Given the description of an element on the screen output the (x, y) to click on. 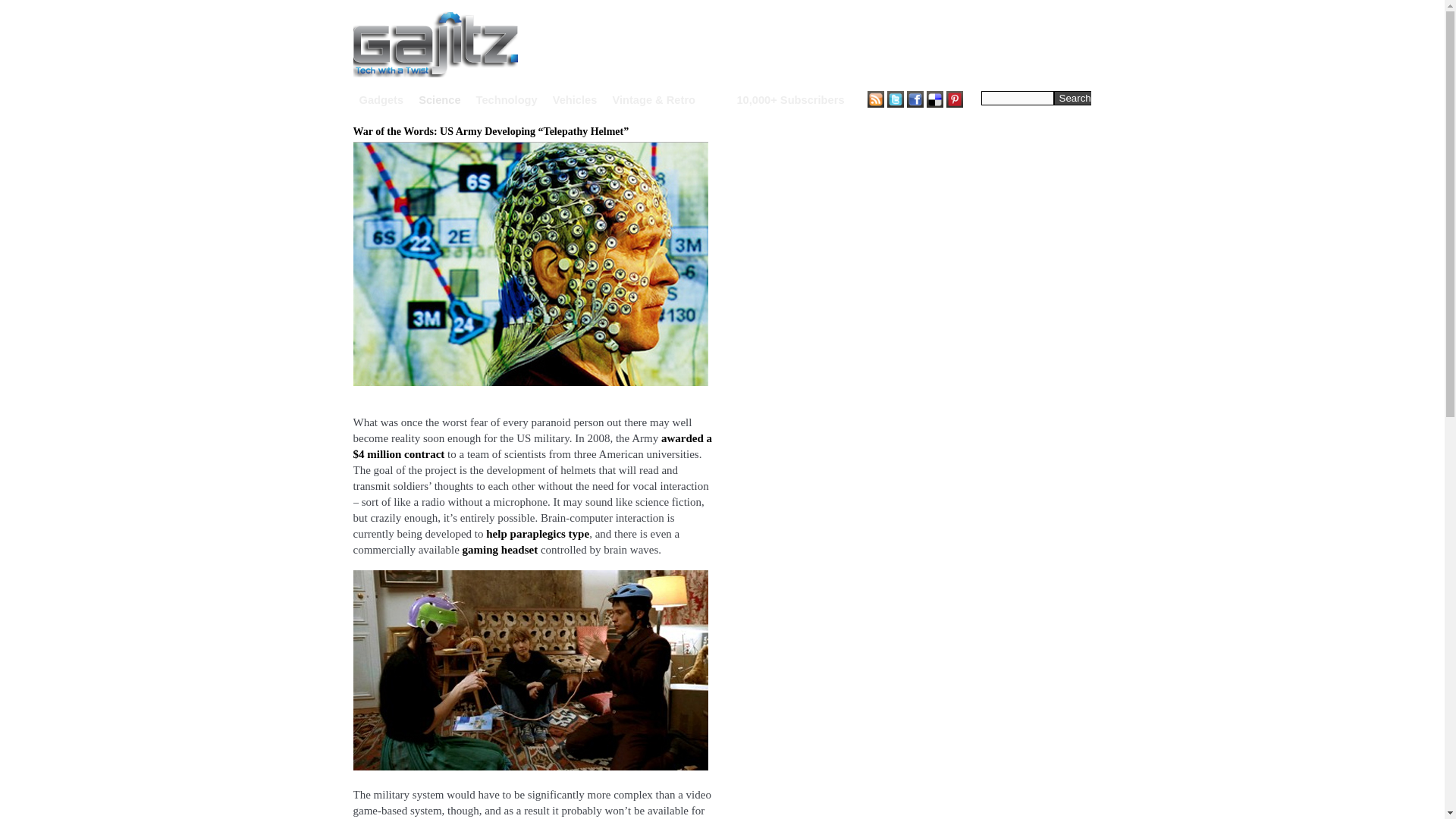
Gadgets (381, 100)
Click for Subscription Options (790, 100)
telepathy helmet science of sleep (530, 670)
help paraplegics type (537, 533)
Follow on Twitter (895, 98)
Gadgets (381, 100)
Subscribe via RSS (875, 98)
Search (1075, 97)
Vehicles (574, 100)
Follow us on Pinterest! (954, 98)
Science (439, 100)
army telepathy helmet (530, 263)
Search (1075, 97)
Advertisement (816, 42)
Technology (506, 100)
